Given the description of an element on the screen output the (x, y) to click on. 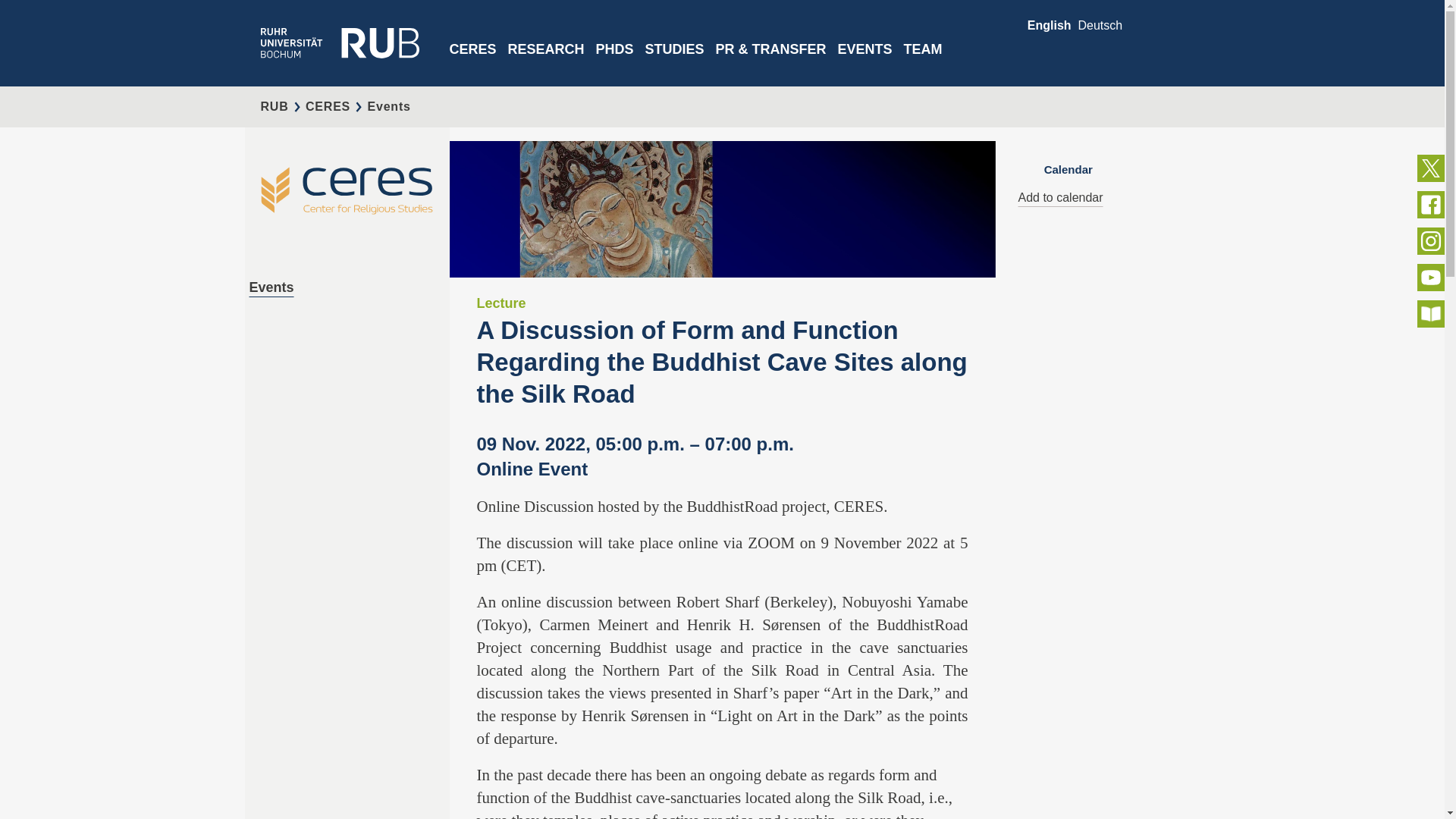
Change to language: Deutsch (1099, 24)
CERES (472, 62)
EVENTS (865, 62)
STUDIES (674, 62)
RESEARCH (546, 62)
